Given the description of an element on the screen output the (x, y) to click on. 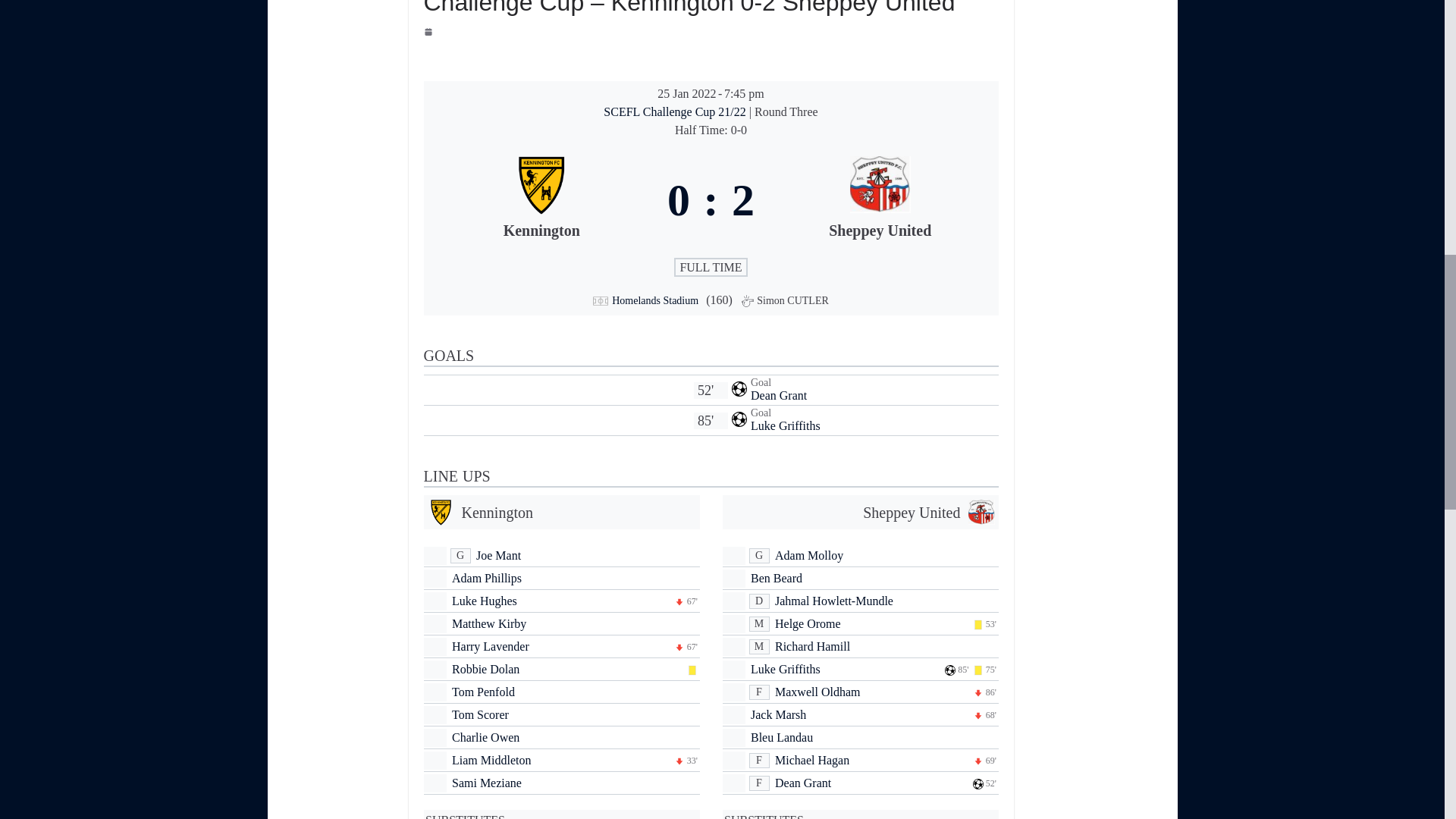
Tom Scorer (479, 714)
Robbie Dolan (485, 668)
Dean Grant (778, 395)
Luke Hughes (483, 600)
Tom Penfold (483, 691)
Matthew Kirby (488, 623)
Harry Lavender (490, 645)
Adam Phillips (486, 577)
Homelands Stadium (654, 300)
Joe Mant (498, 554)
